Given the description of an element on the screen output the (x, y) to click on. 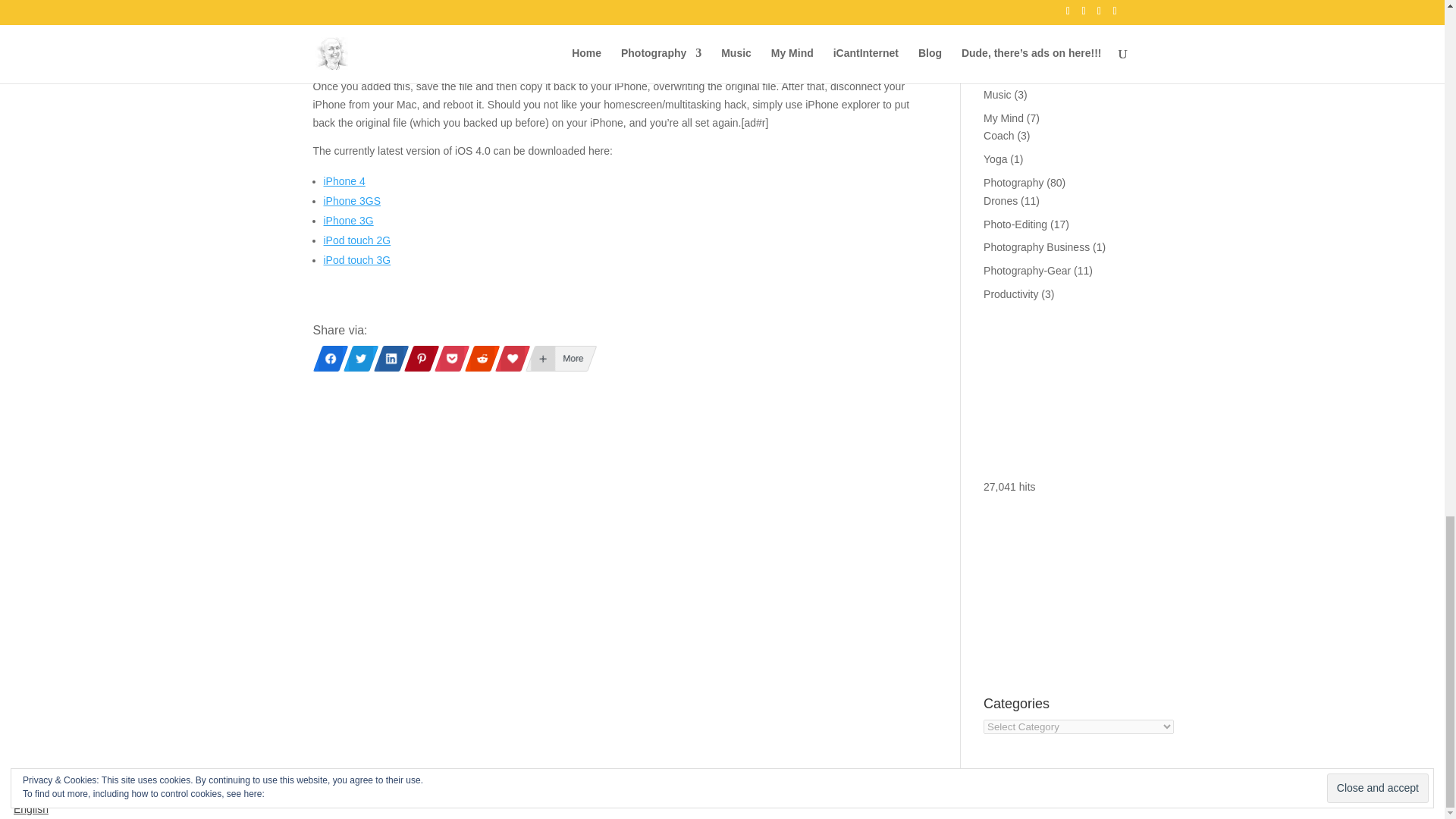
iPhone 4 (344, 181)
Bitmongers.net (409, 787)
iPhone 3G (347, 220)
iPod touch 3G (356, 259)
iPhone 3GS (351, 200)
iPod touch 2G (356, 240)
